Given the description of an element on the screen output the (x, y) to click on. 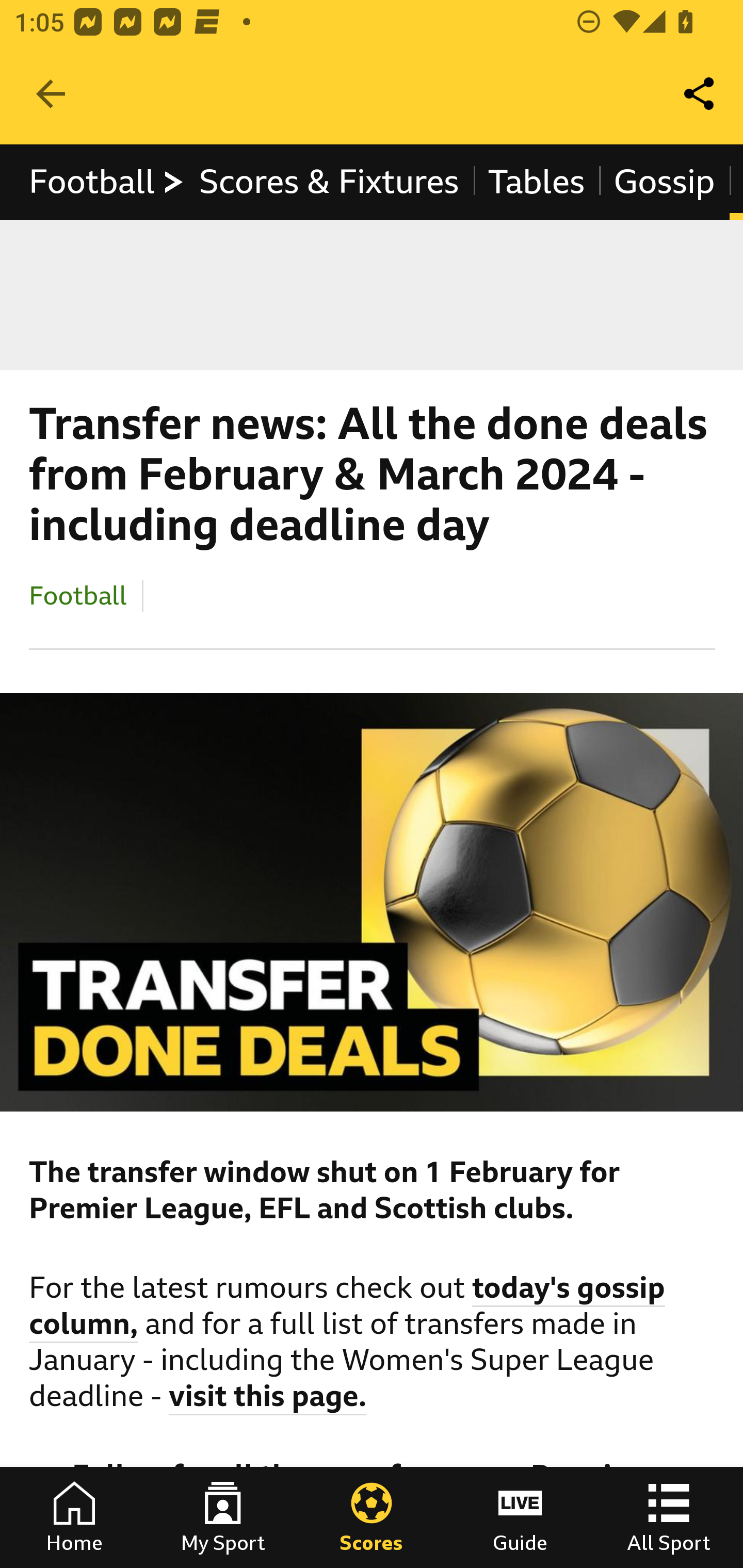
Navigate up (50, 93)
Share (699, 93)
Football  (106, 181)
Scores & Fixtures (329, 181)
Tables (536, 181)
Gossip (664, 181)
Football (77, 594)
today's gossip column, (347, 1307)
visit this page. (267, 1398)
Home (74, 1517)
My Sport (222, 1517)
Guide (519, 1517)
All Sport (668, 1517)
